Given the description of an element on the screen output the (x, y) to click on. 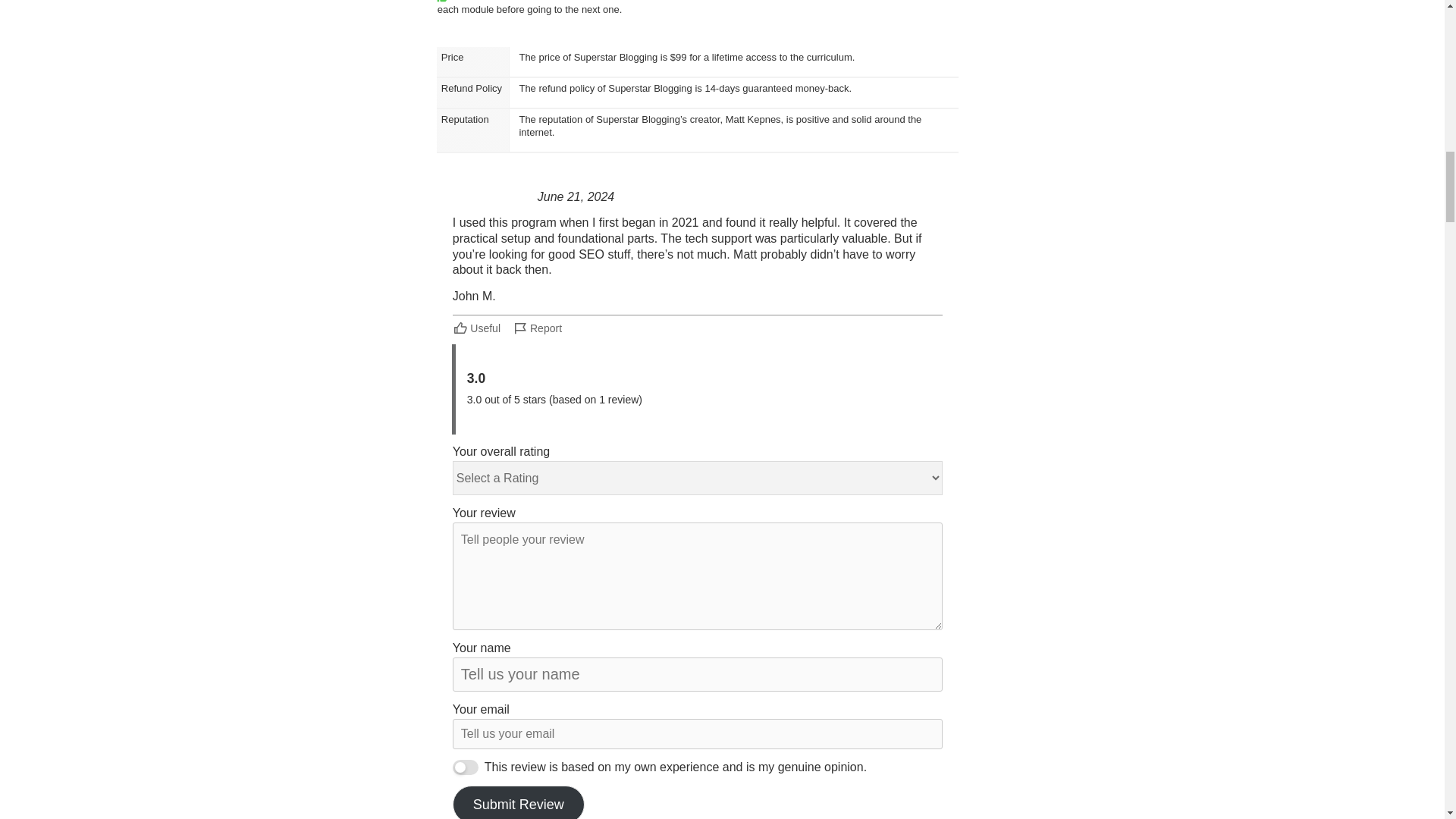
Submit Review (518, 802)
1 (465, 767)
Useful (477, 328)
Report (537, 328)
